Given the description of an element on the screen output the (x, y) to click on. 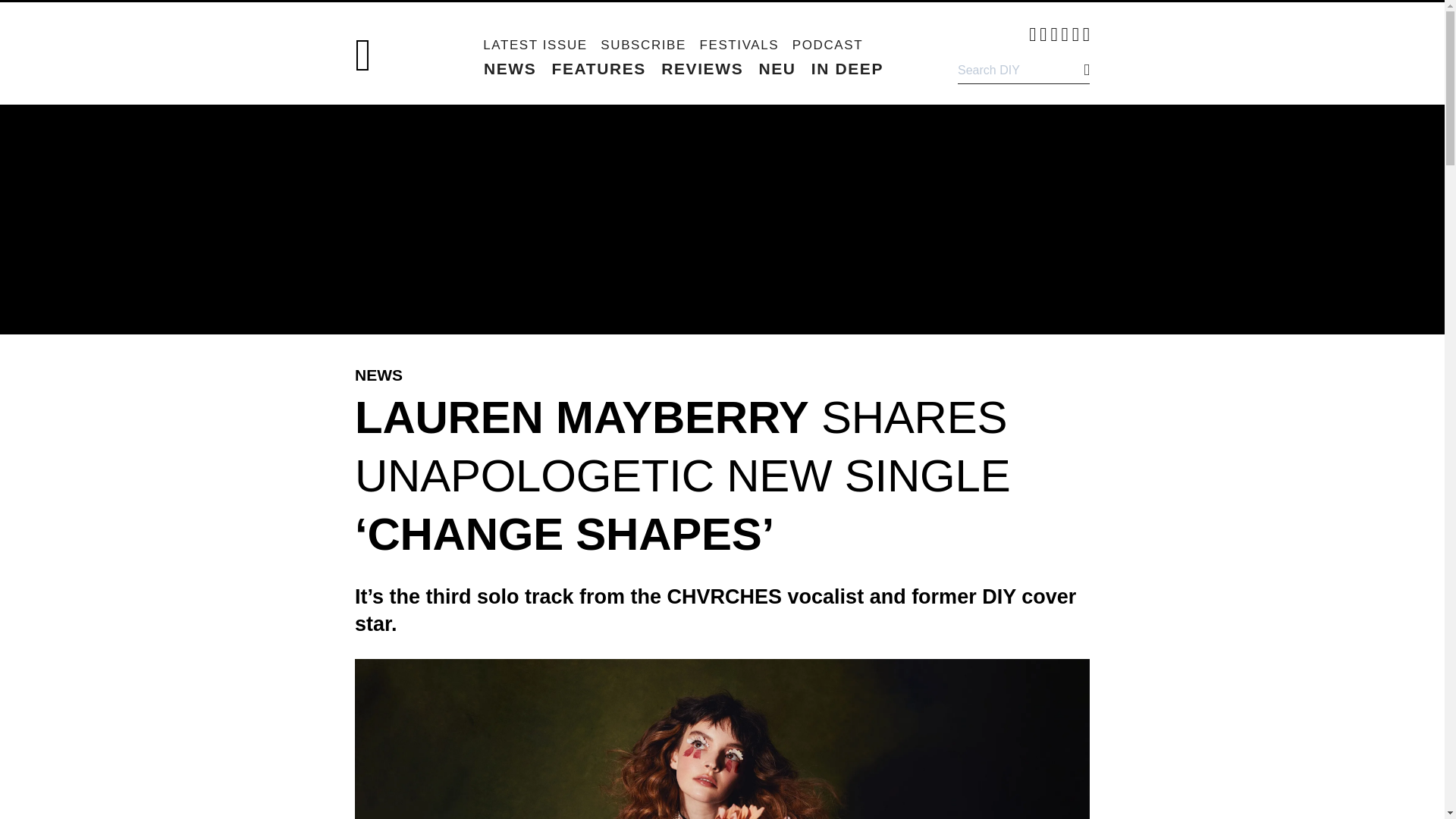
SUBSCRIBE (642, 44)
NEWS (379, 375)
LATEST ISSUE (535, 44)
REVIEWS (701, 67)
FEATURES (598, 67)
PODCAST (827, 44)
FESTIVALS (738, 44)
IN DEEP (846, 67)
NEWS (509, 67)
NEU (776, 67)
